Given the description of an element on the screen output the (x, y) to click on. 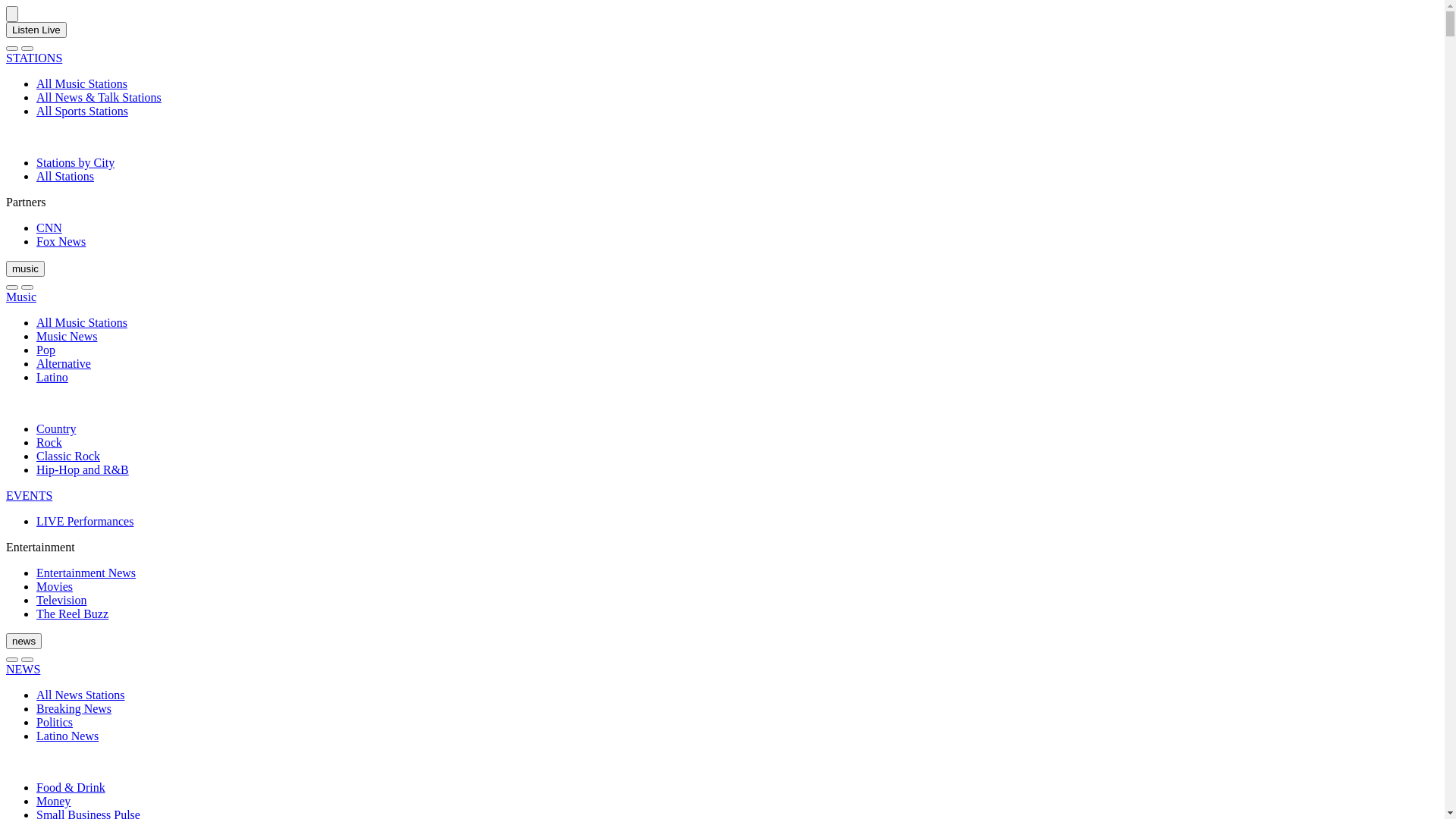
LIVE Performances Element type: text (84, 520)
music Element type: text (25, 267)
Hip-Hop and R&B Element type: text (82, 469)
Television Element type: text (61, 599)
news Element type: text (23, 641)
Listen Live Element type: text (36, 28)
All Sports Stations Element type: text (82, 110)
Audacy Logo Element type: text (12, 13)
All Music Stations Element type: text (81, 322)
Breaking News Element type: text (73, 708)
Listen Live Element type: text (36, 29)
Country Element type: text (55, 428)
The Reel Buzz Element type: text (72, 613)
Latino Element type: text (52, 376)
All Music Stations Element type: text (81, 83)
Food & Drink Element type: text (70, 787)
Rock Element type: text (49, 442)
Money Element type: text (53, 800)
Classic Rock Element type: text (68, 455)
Movies Element type: text (54, 586)
All Stations Element type: text (65, 175)
Pop Element type: text (45, 349)
Audacy Logo Element type: text (12, 12)
Entertainment News Element type: text (85, 572)
Music News Element type: text (66, 335)
NEWS Element type: text (23, 668)
Stations by City Element type: text (75, 162)
music Element type: text (25, 268)
Politics Element type: text (54, 721)
STATIONS Element type: text (34, 57)
CNN Element type: text (49, 227)
All News & Talk Stations Element type: text (98, 97)
Latino News Element type: text (67, 735)
Alternative Element type: text (63, 363)
news Element type: text (23, 639)
Music Element type: text (21, 296)
EVENTS Element type: text (29, 495)
Fox News Element type: text (60, 241)
All News Stations Element type: text (80, 694)
